Given the description of an element on the screen output the (x, y) to click on. 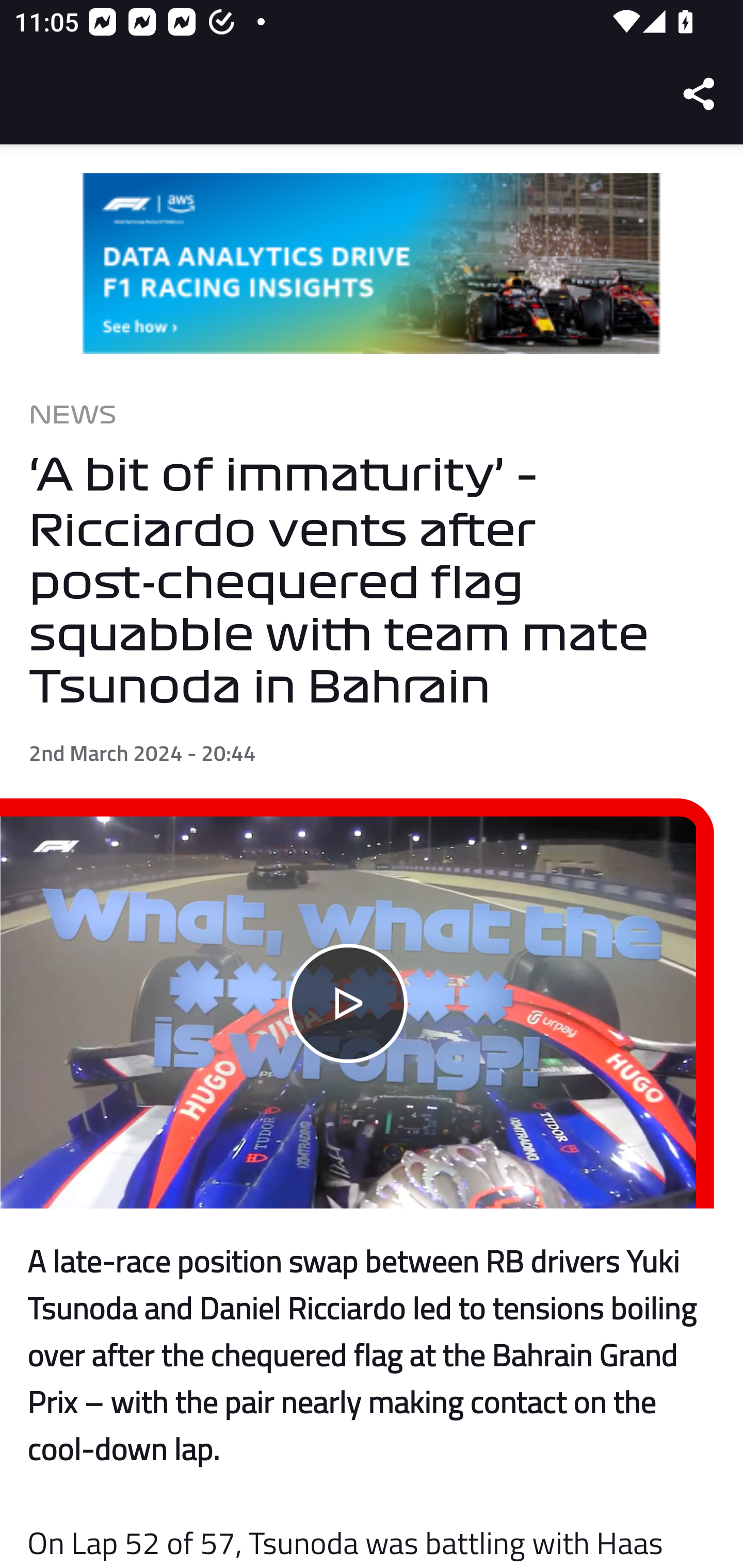
Share (699, 93)
